Given the description of an element on the screen output the (x, y) to click on. 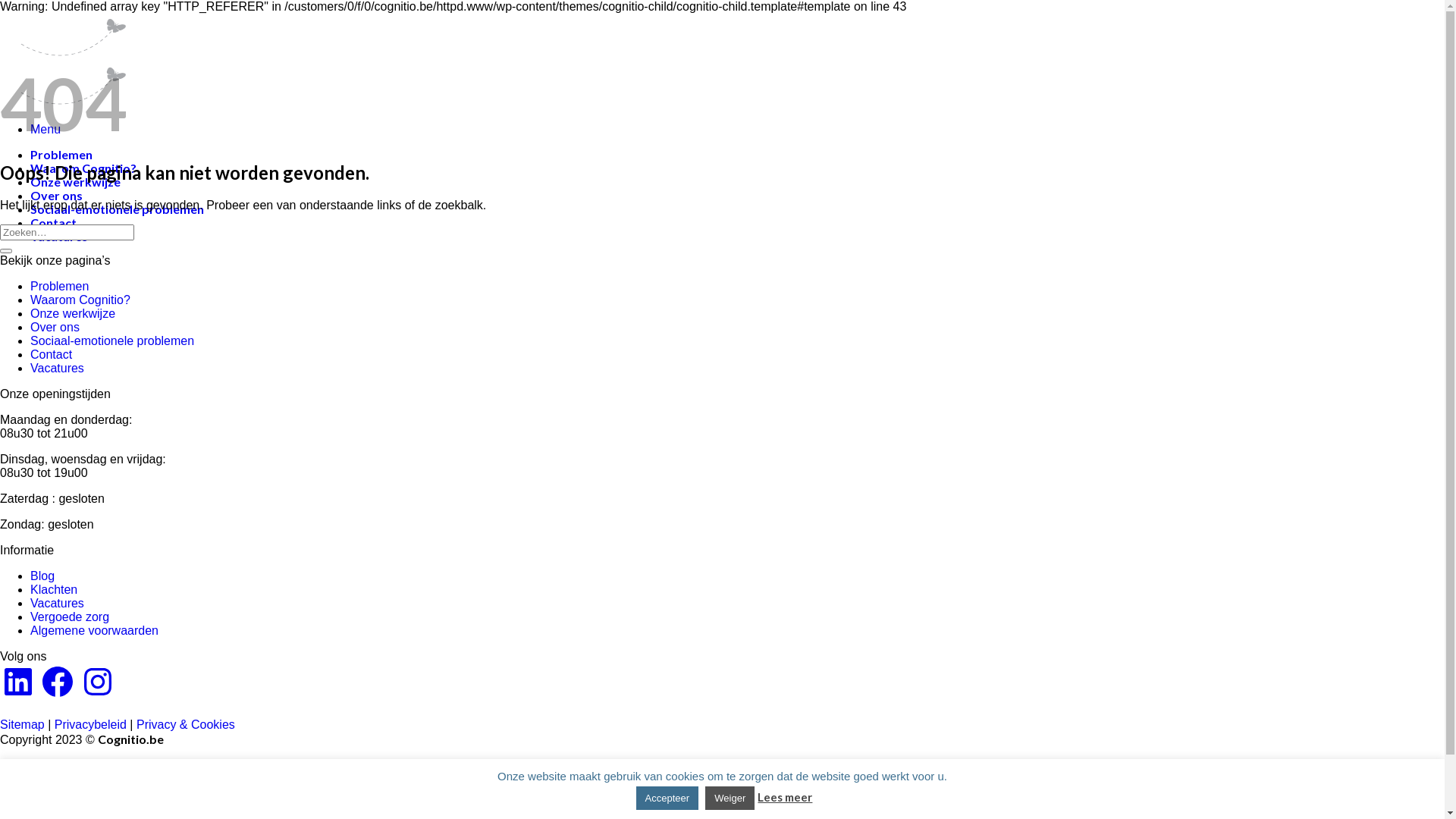
Klachten Element type: text (53, 589)
Waarom Cognitio? Element type: text (83, 781)
Waarom Cognitio? Element type: text (83, 167)
Sociaal-emotionele problemen Element type: text (116, 208)
Weiger Element type: text (729, 797)
Problemen Element type: text (61, 154)
Privacybeleid Element type: text (90, 724)
Contact Element type: text (51, 354)
Over ons Element type: text (54, 326)
Accepteer Element type: text (667, 797)
Facebook Element type: text (57, 681)
Onze werkwijze Element type: text (75, 181)
Vacatures Element type: text (58, 236)
Sociaal-emotionele problemen Element type: text (112, 340)
Lees meer Element type: text (784, 796)
Instagram Element type: text (97, 681)
Menu Element type: text (45, 128)
Onze werkwijze Element type: text (72, 313)
LinkedIn Element type: text (18, 681)
Problemen Element type: text (59, 285)
Sitemap Element type: text (22, 724)
Waarom Cognitio? Element type: text (80, 299)
Onze werkwijze Element type: text (75, 796)
Over ons Element type: text (56, 195)
Vacatures Element type: text (57, 367)
Blog Element type: text (42, 575)
Problemen Element type: text (61, 766)
Vergoede zorg Element type: text (69, 616)
Privacy & Cookies Element type: text (185, 724)
Algemene voorwaarden Element type: text (94, 630)
Contact Element type: text (53, 222)
Cognitio Element type: hover (64, 78)
Vacatures Element type: text (57, 602)
